Given the description of an element on the screen output the (x, y) to click on. 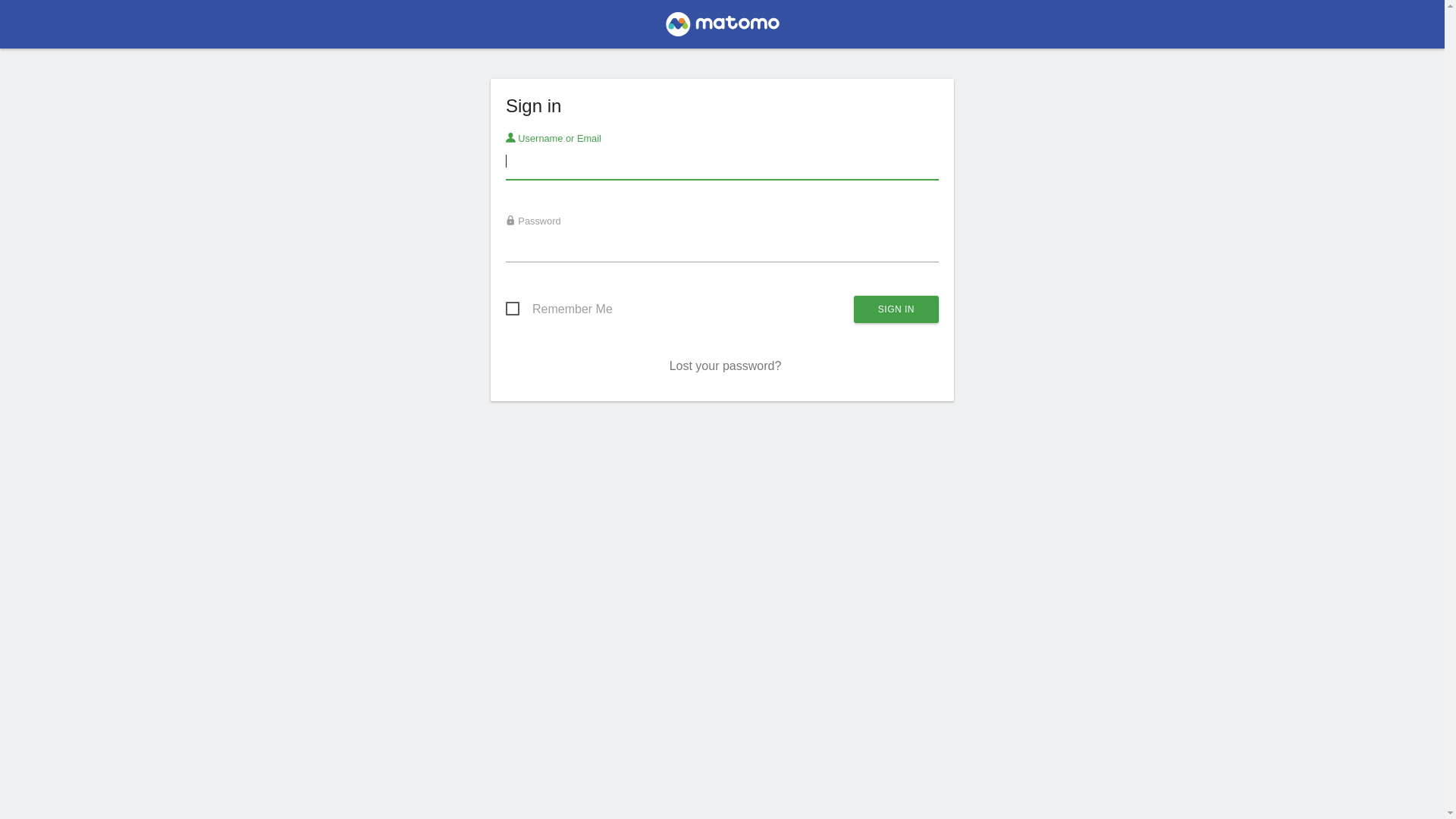
Sign in Element type: text (895, 309)
Matomo # free/libre analytics platform Element type: hover (722, 27)
Lost your password? Element type: text (725, 365)
